Given the description of an element on the screen output the (x, y) to click on. 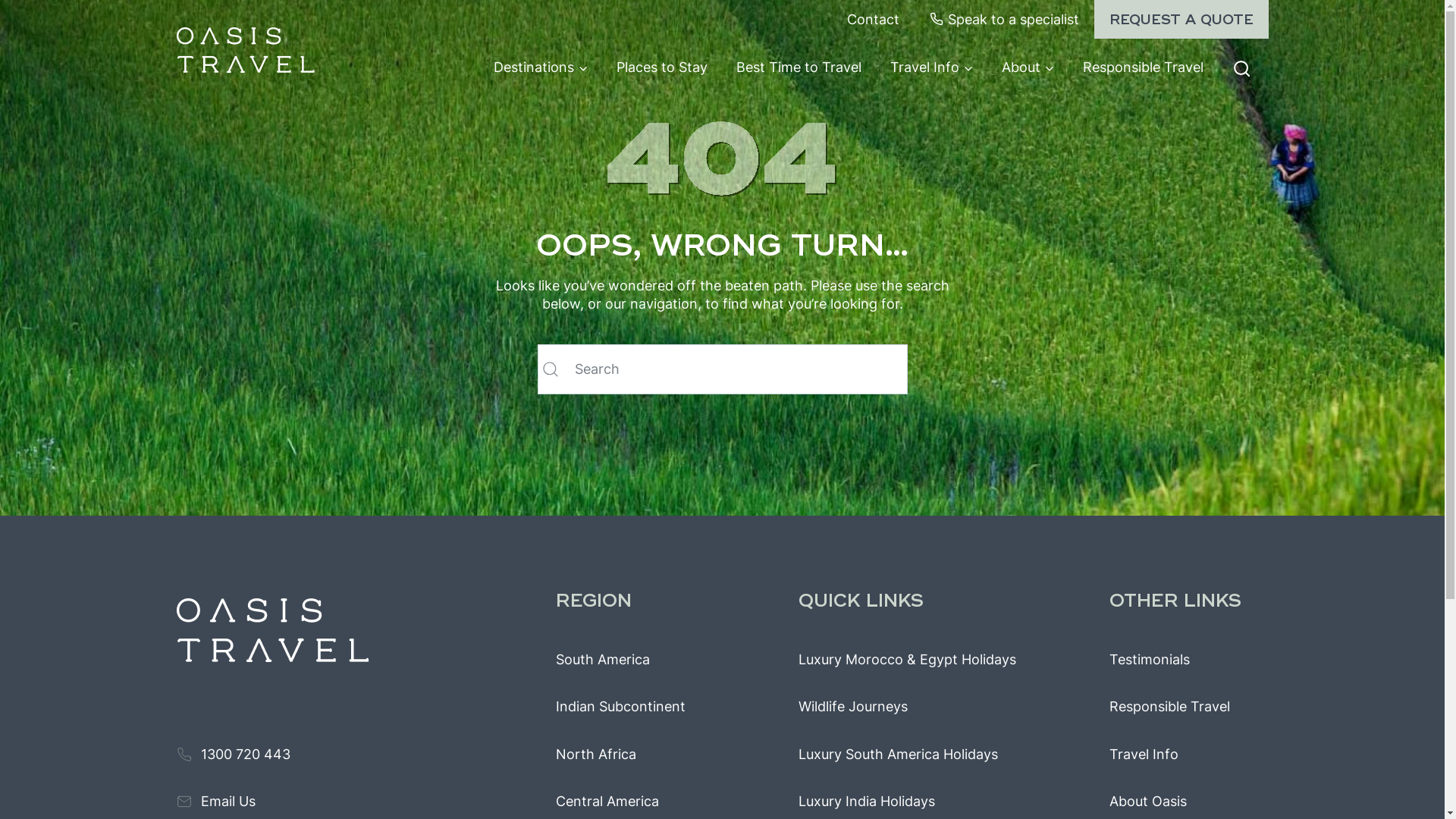
Contact Element type: text (872, 19)
QUICK LINKS Element type: text (945, 600)
South America Element type: text (602, 659)
Travel Info Element type: text (931, 66)
Testimonials Element type: text (1148, 659)
Indian Subcontinent Element type: text (619, 706)
REQUEST A QUOTE Element type: text (1180, 19)
Responsible Travel Element type: text (1142, 66)
Travel Info Element type: text (1142, 754)
North Africa Element type: text (595, 754)
REGION Element type: text (668, 600)
Central America Element type: text (606, 801)
1300 720 443 Element type: text (232, 754)
Destinations Element type: text (540, 66)
Responsible Travel Element type: text (1168, 706)
Luxury Morocco & Egypt Holidays Element type: text (906, 659)
Places to Stay Element type: text (661, 66)
About Oasis Element type: text (1147, 801)
OTHER LINKS Element type: text (1187, 600)
Luxury South America Holidays Element type: text (897, 754)
About Element type: text (1027, 66)
Best Time to Travel Element type: text (798, 66)
Luxury India Holidays Element type: text (865, 801)
Wildlife Journeys Element type: text (851, 706)
Speak to a specialist Element type: text (1003, 19)
Email Us Element type: text (214, 801)
